Given the description of an element on the screen output the (x, y) to click on. 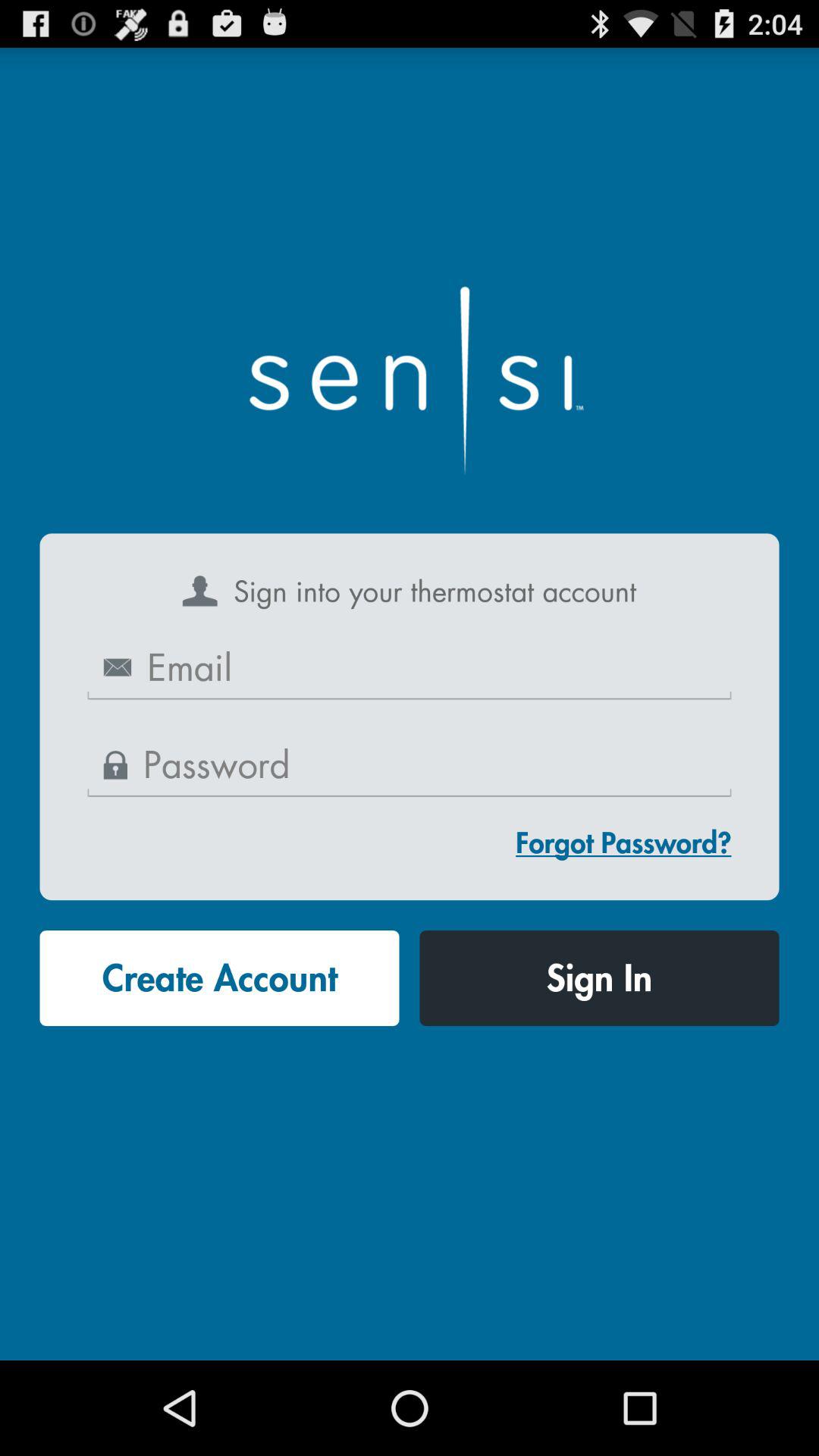
enter password (409, 765)
